Given the description of an element on the screen output the (x, y) to click on. 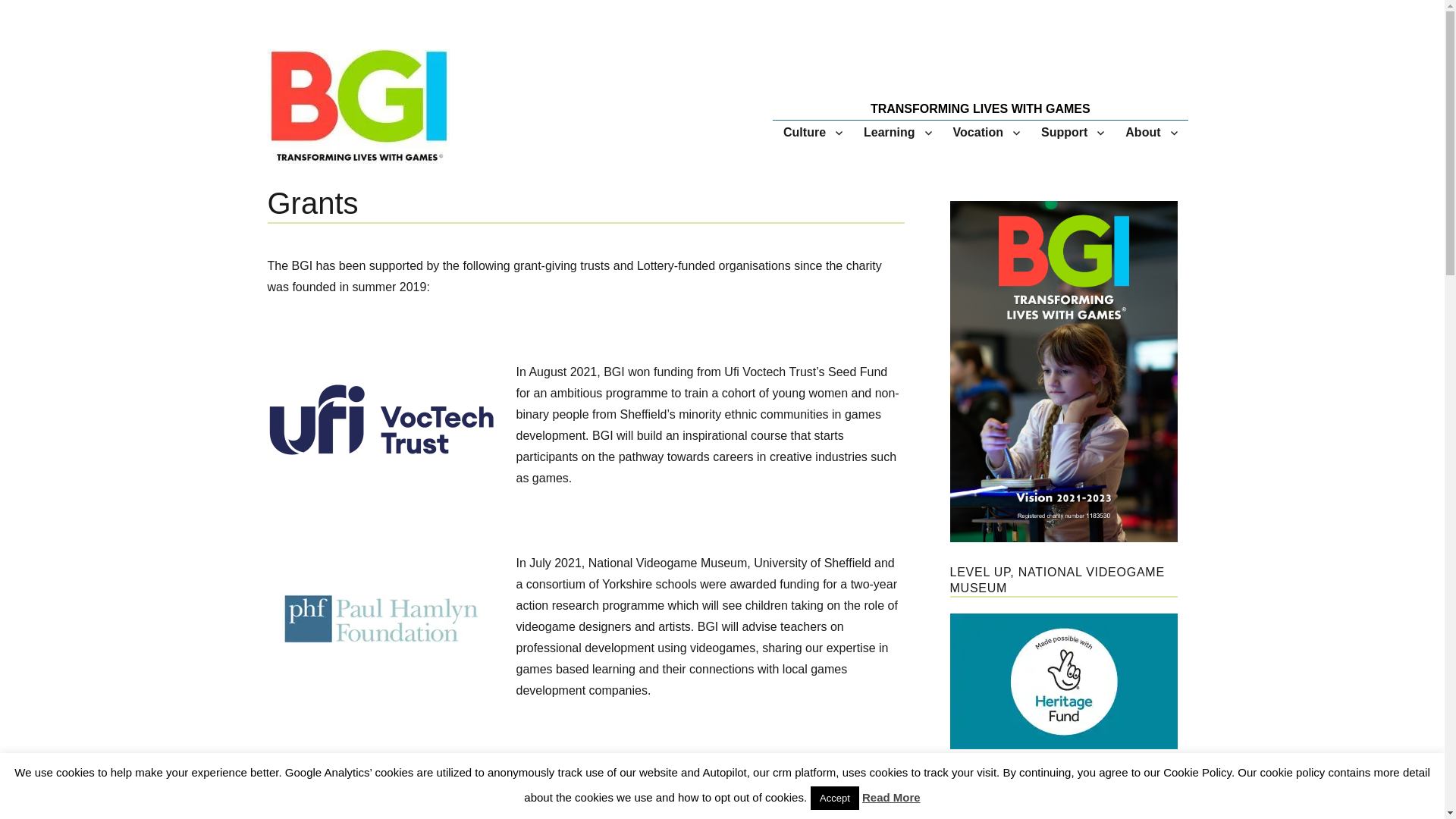
The BGI (374, 212)
Culture (813, 132)
Vocation (986, 132)
Learning (897, 132)
